Given the description of an element on the screen output the (x, y) to click on. 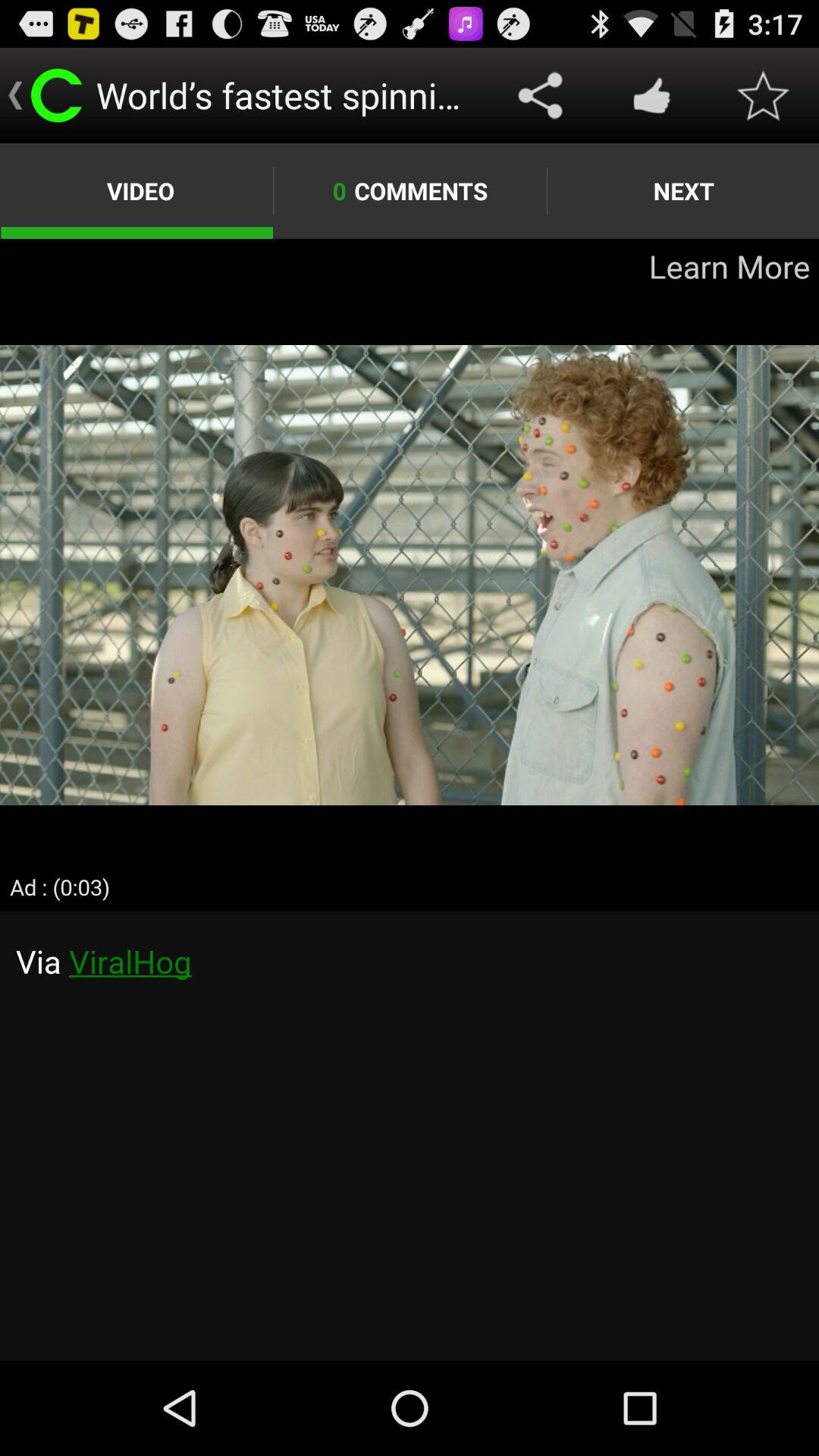
go to chat (409, 1135)
